Given the description of an element on the screen output the (x, y) to click on. 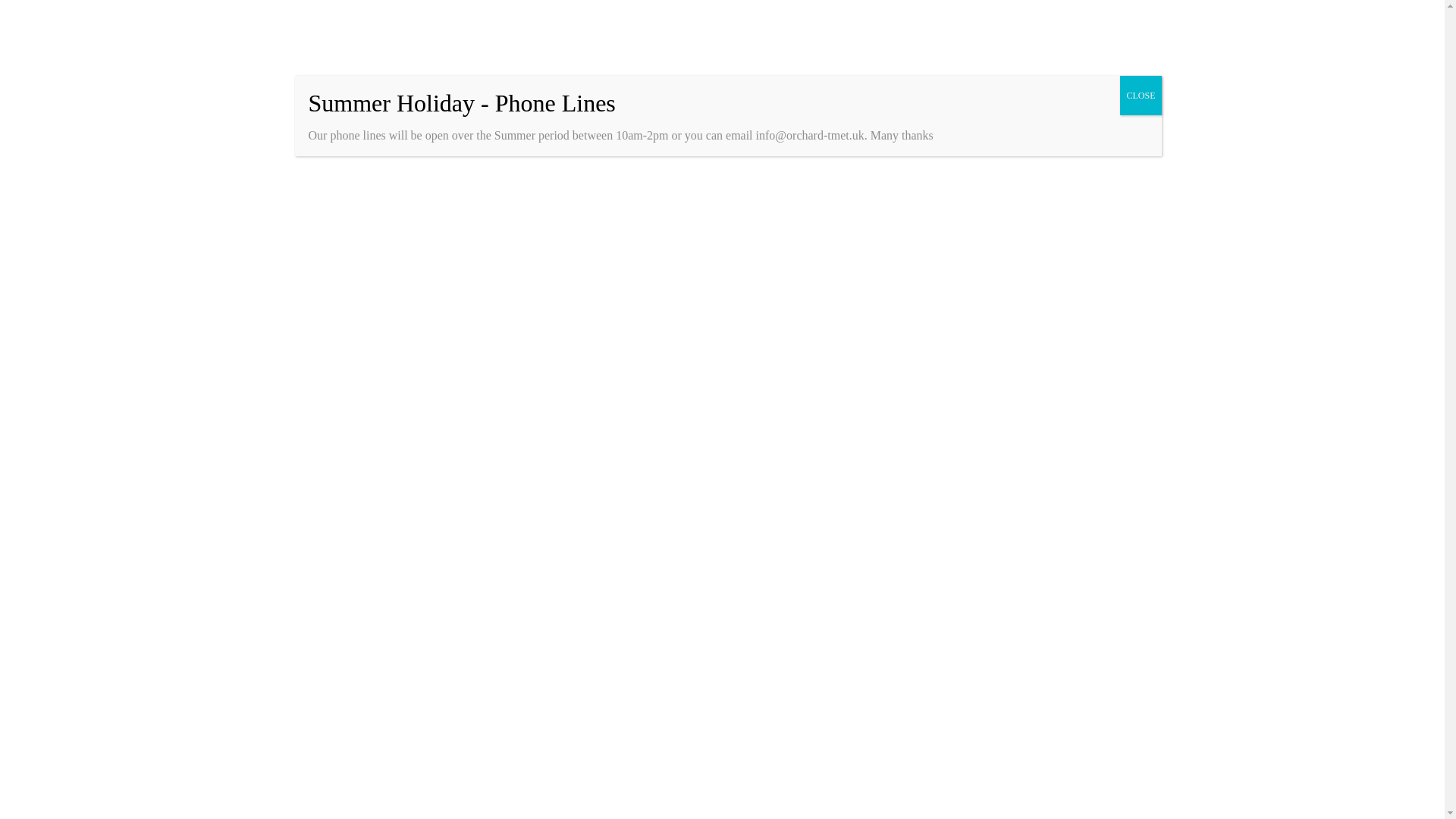
TMET (546, 22)
OUR ACADEMY (259, 22)
Staff Portal (589, 91)
